Given the description of an element on the screen output the (x, y) to click on. 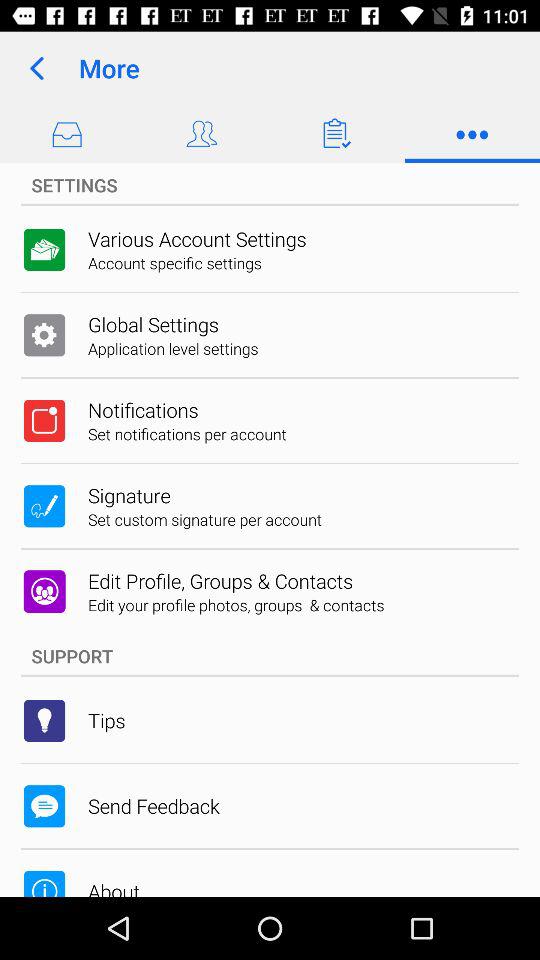
flip to about item (113, 887)
